Given the description of an element on the screen output the (x, y) to click on. 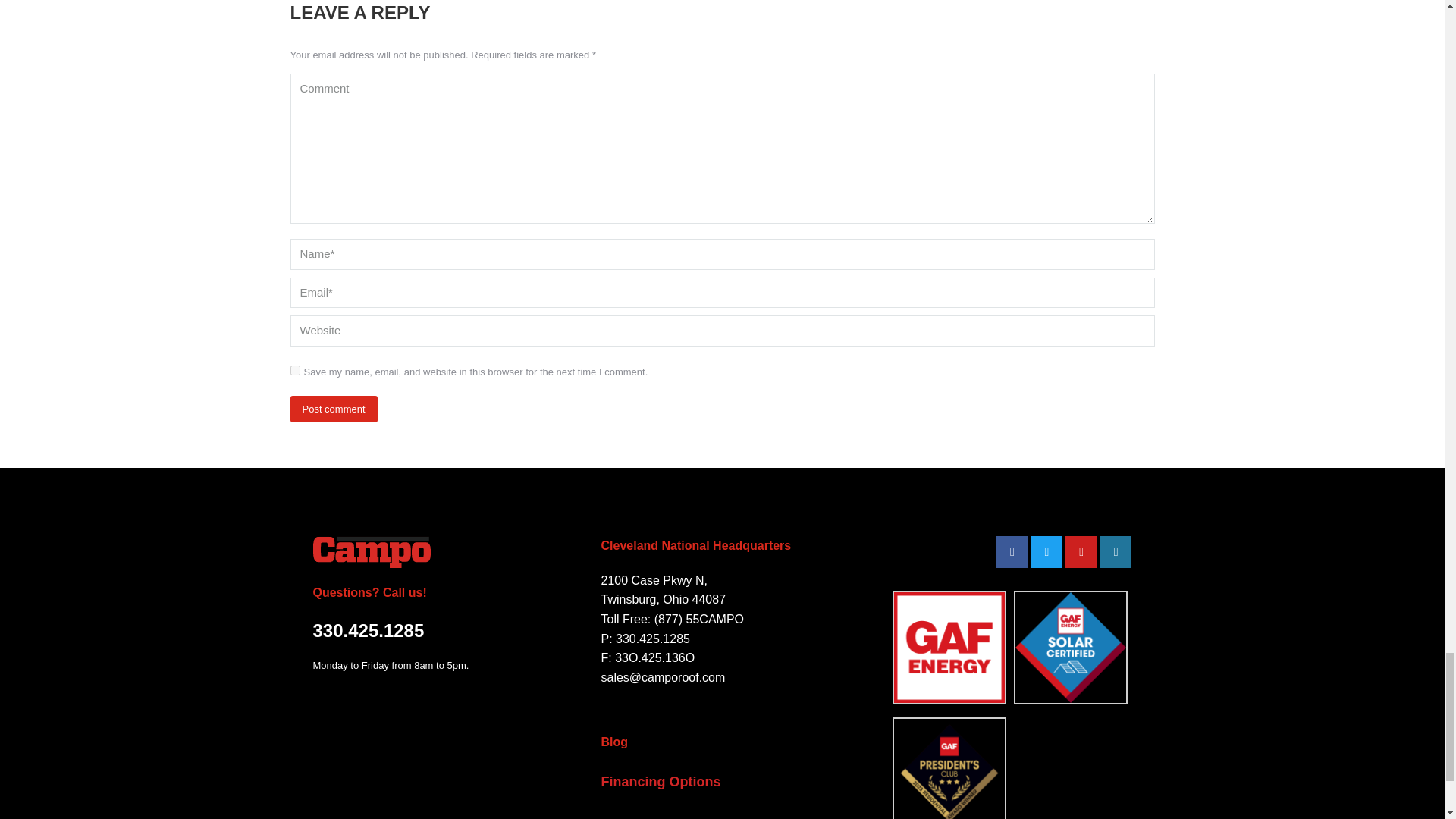
yes (294, 370)
